Given the description of an element on the screen output the (x, y) to click on. 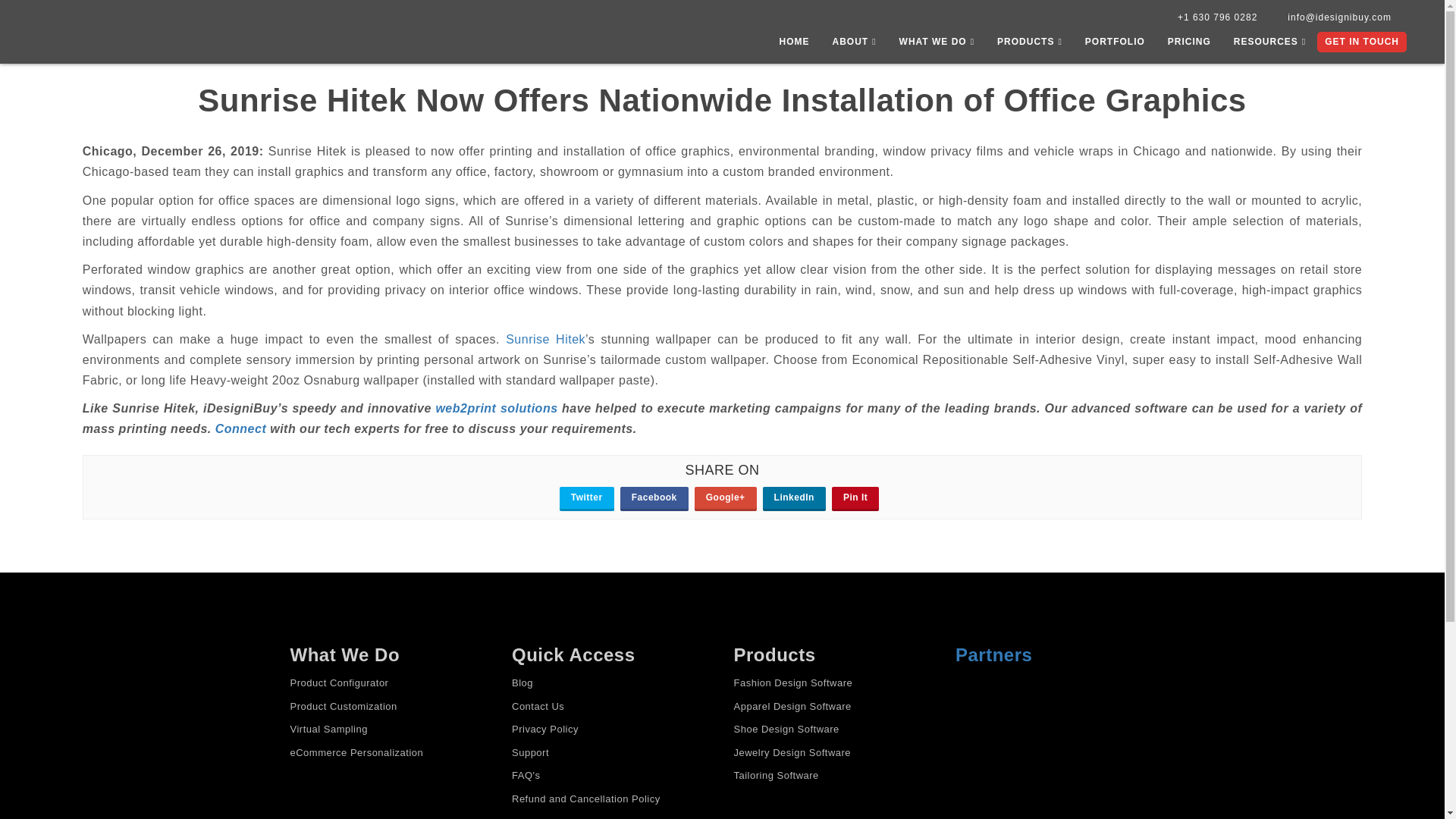
PORTFOLIO (1115, 45)
ABOUT (853, 45)
RESOURCES (1270, 45)
HOME (794, 45)
GET IN TOUCH (1361, 41)
PRODUCTS (1029, 45)
PRICING (1189, 45)
WHAT WE DO (937, 45)
